Given the description of an element on the screen output the (x, y) to click on. 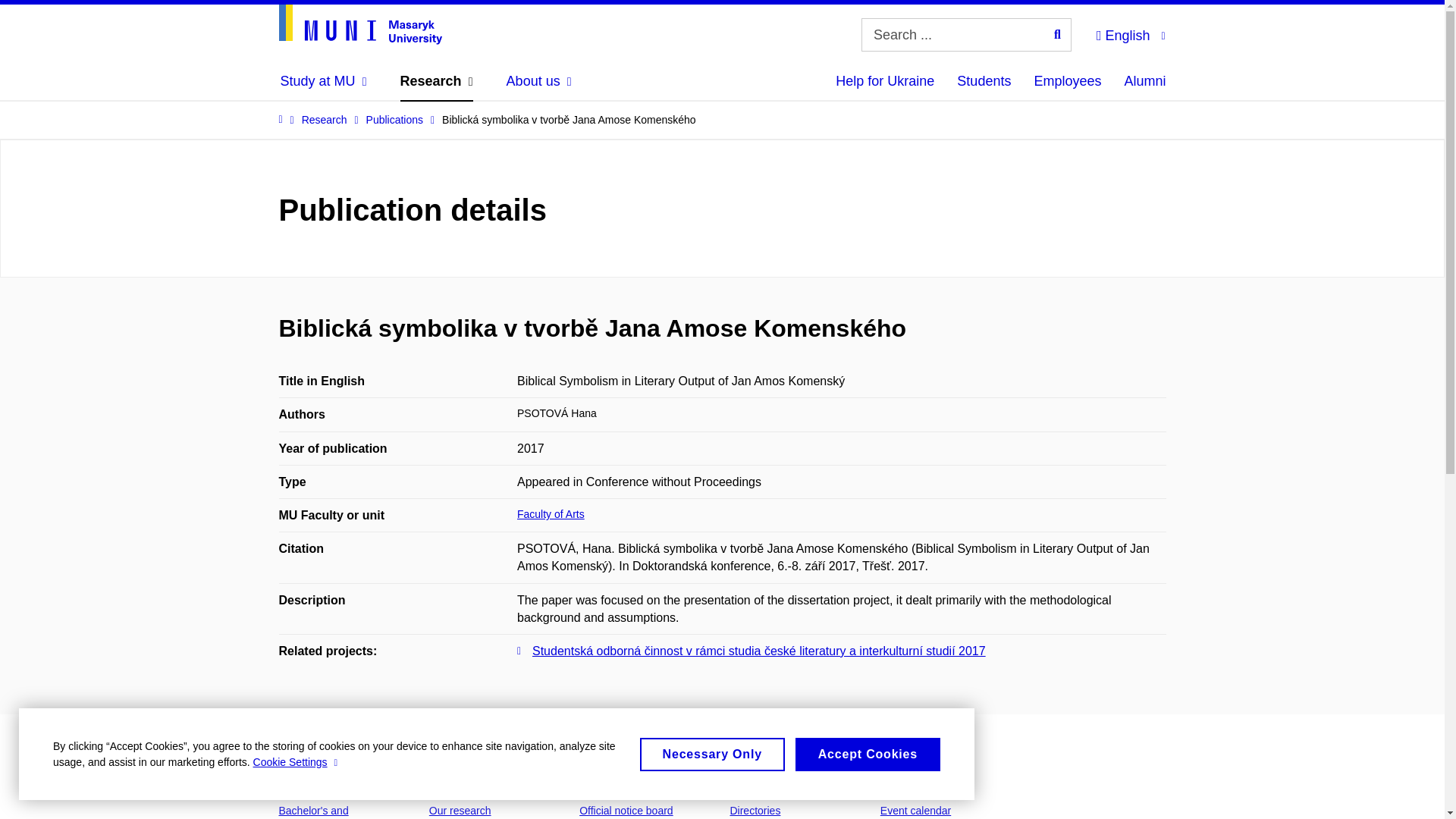
Research (459, 775)
Admissions (317, 775)
Study at MU (323, 80)
Homepage site (360, 24)
English (1130, 34)
Our research (460, 810)
Research (436, 80)
